Given the description of an element on the screen output the (x, y) to click on. 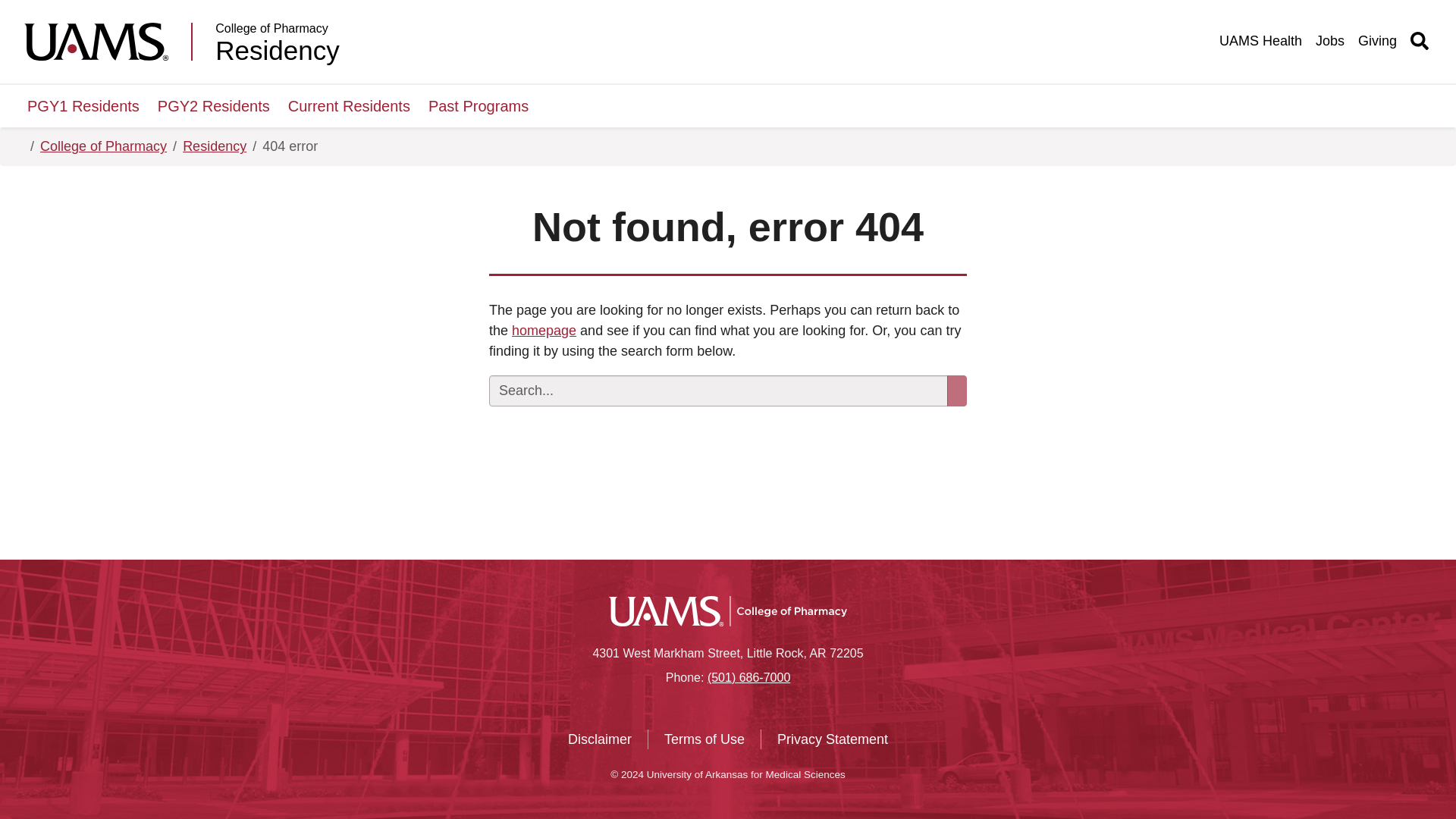
Jobs (1330, 40)
PGY2 Residents (213, 106)
YouTube (735, 708)
Past Programs (478, 106)
Residency (277, 50)
College of Pharmacy (103, 146)
Toggle Search (1419, 40)
Past Programs (478, 106)
Twitter (707, 708)
Current Residents (349, 106)
